Given the description of an element on the screen output the (x, y) to click on. 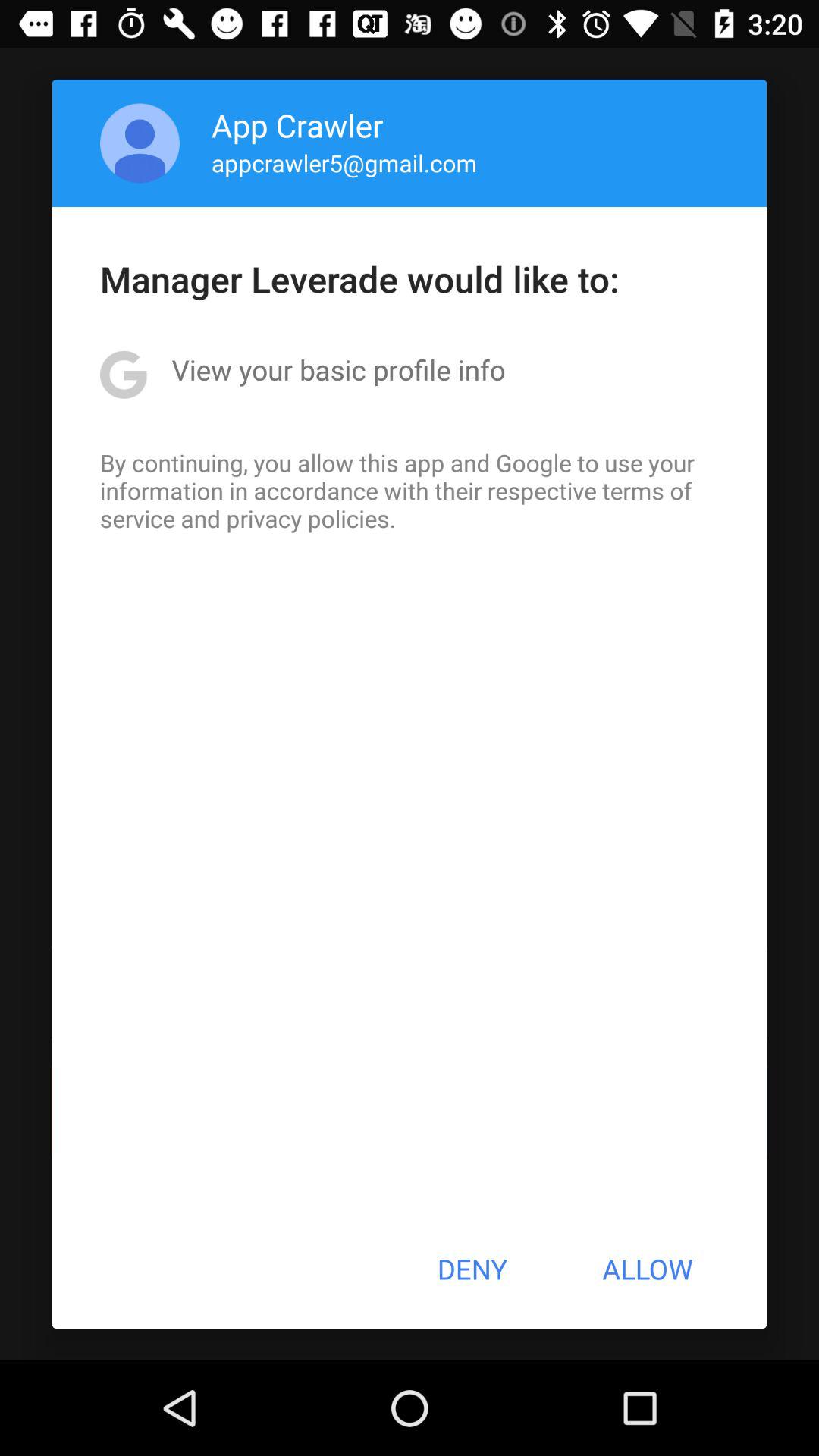
launch the item next to the app crawler app (139, 143)
